Given the description of an element on the screen output the (x, y) to click on. 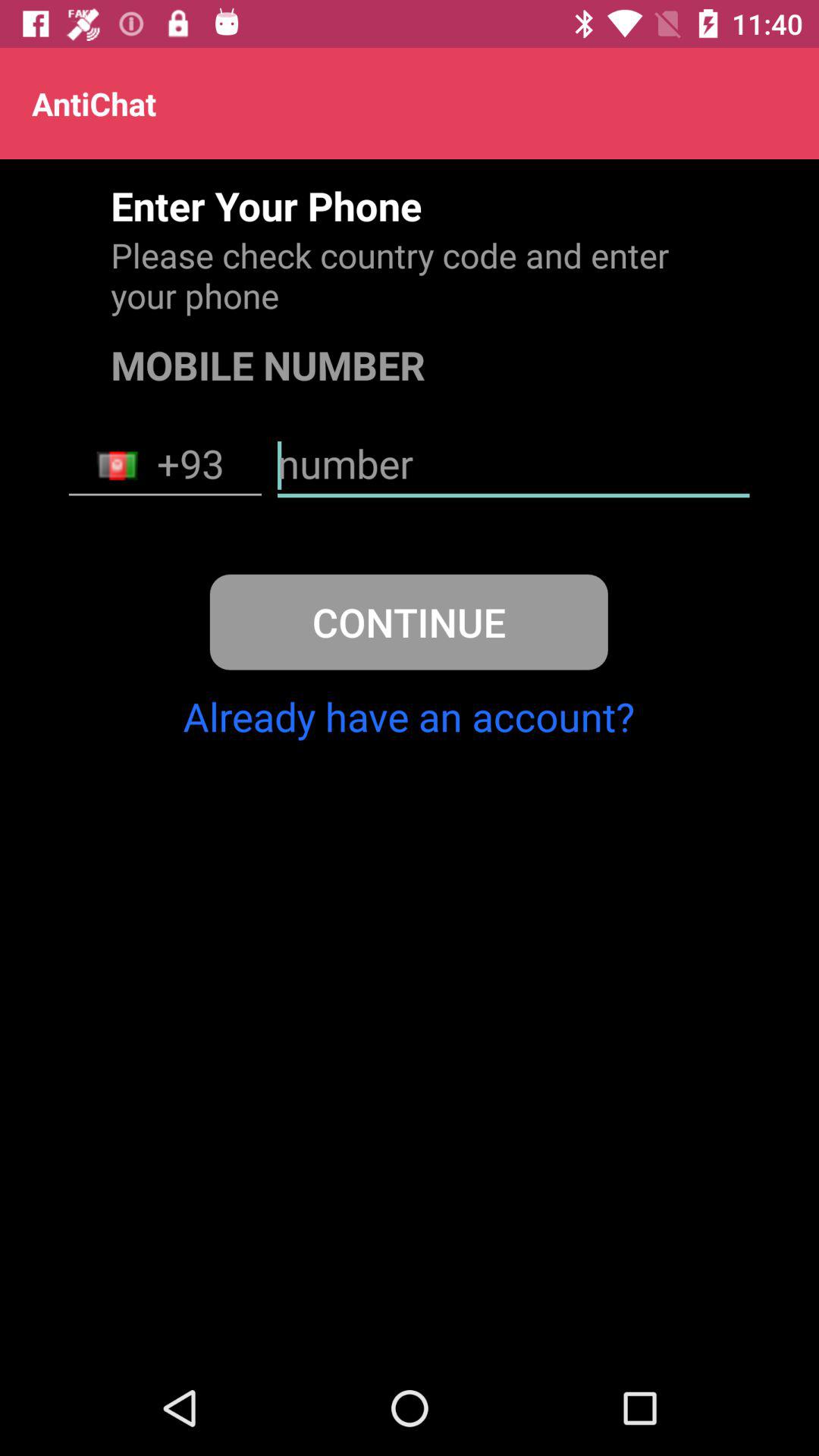
launch icon below the mobile number item (513, 466)
